Given the description of an element on the screen output the (x, y) to click on. 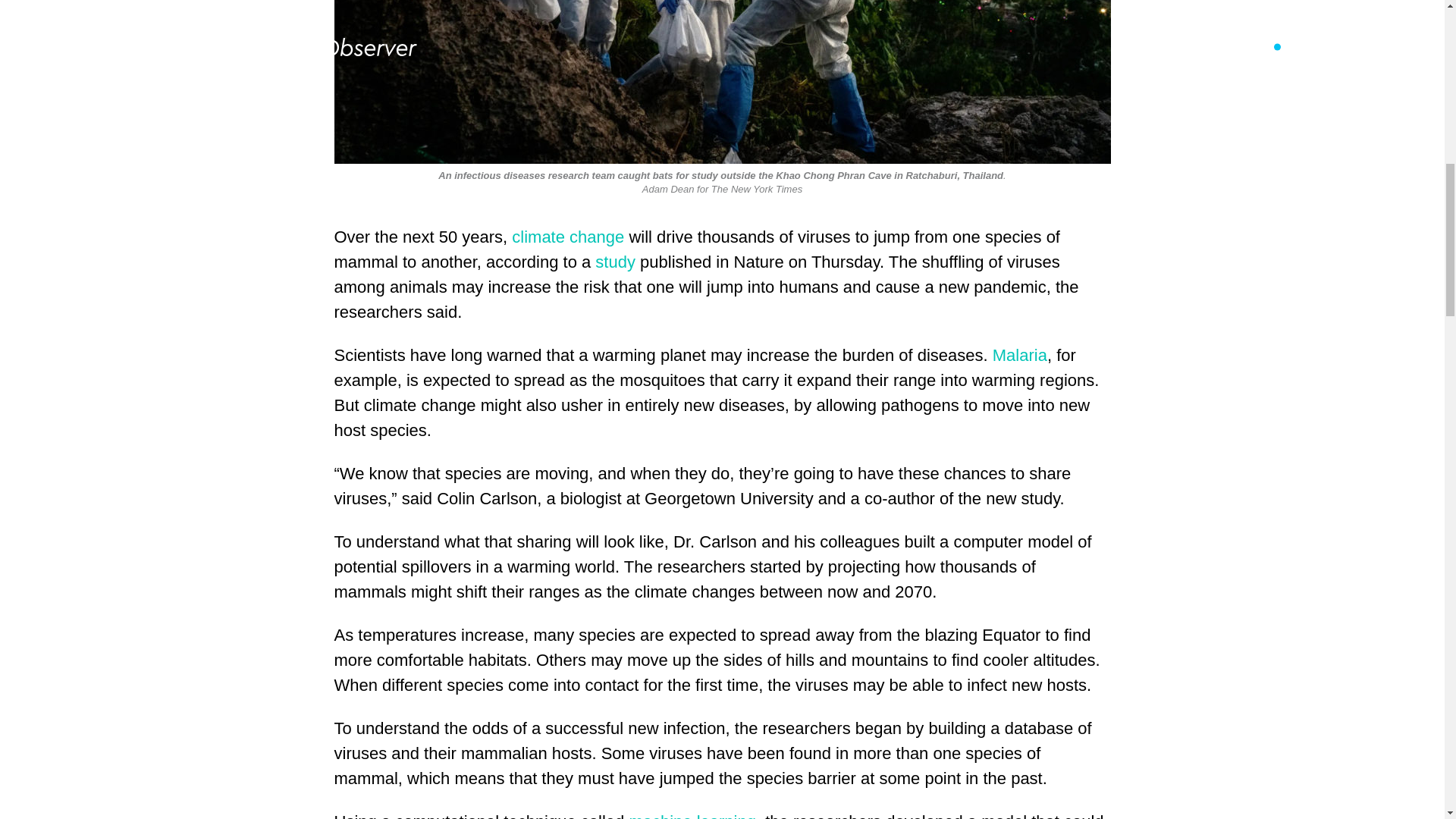
machine learning (691, 815)
climate change (568, 236)
study (614, 261)
Malaria (1019, 354)
